Given the description of an element on the screen output the (x, y) to click on. 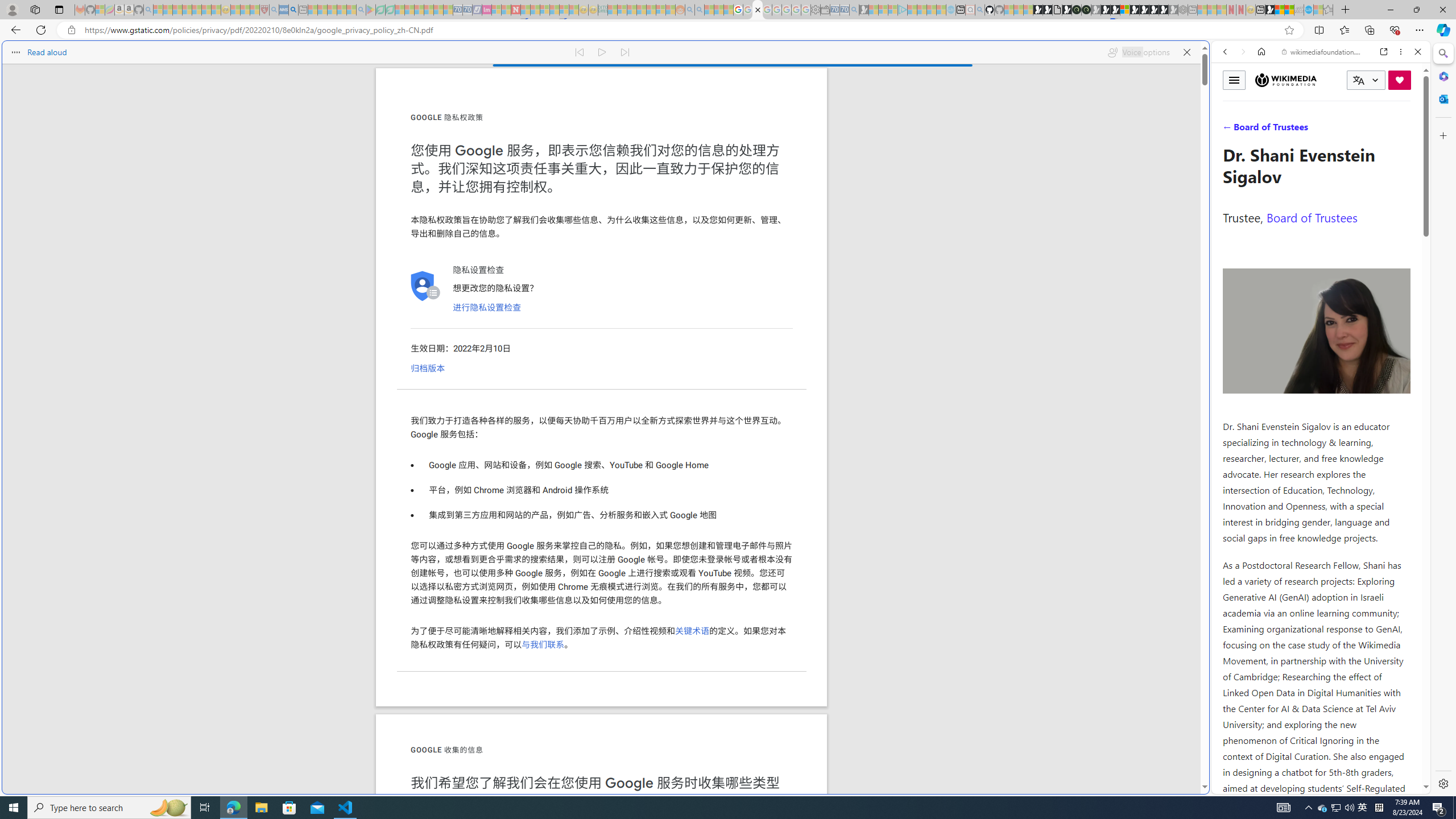
Close read aloud (1186, 52)
CURRENT LANGUAGE: (1366, 80)
